Given the description of an element on the screen output the (x, y) to click on. 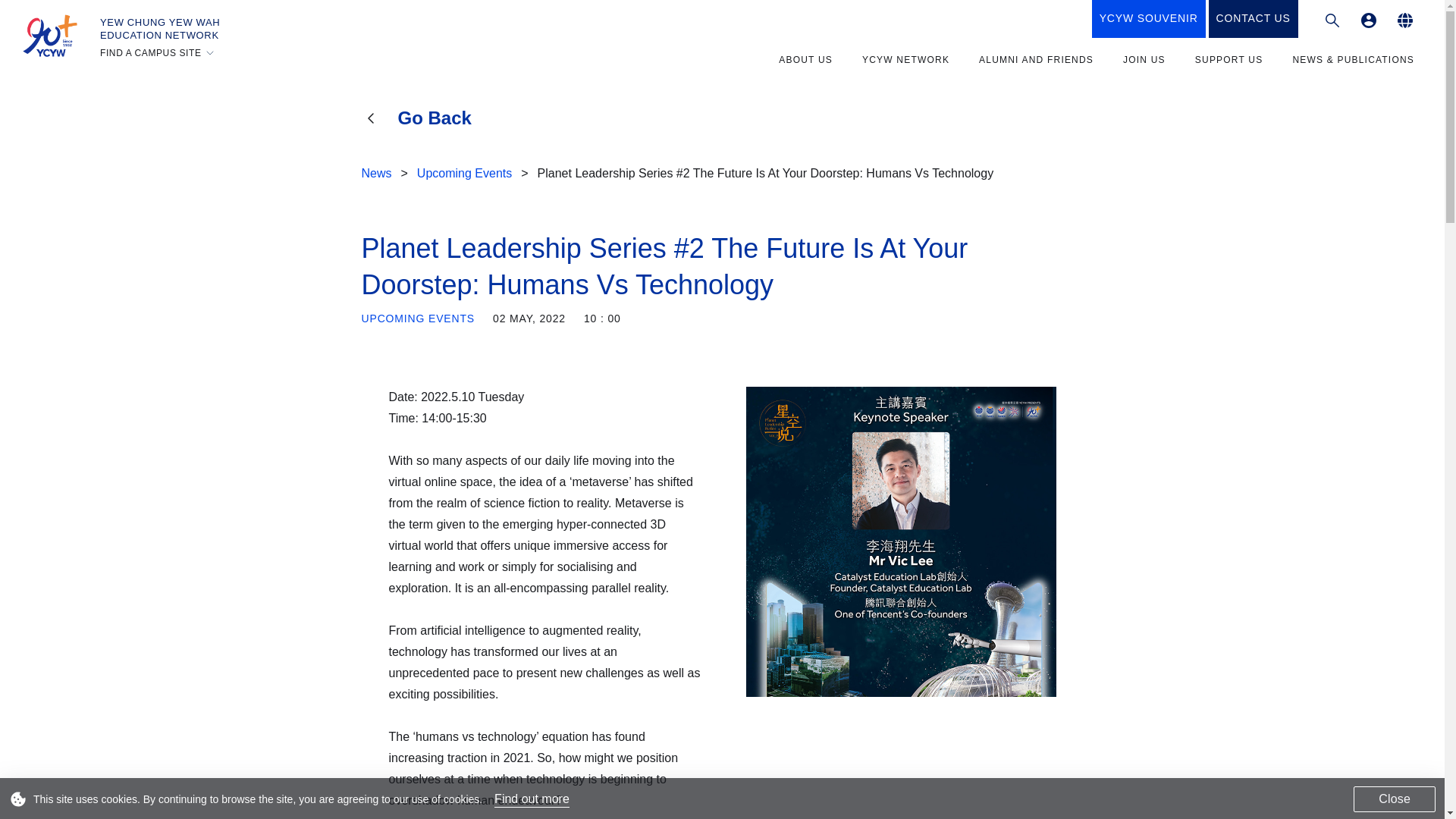
YCYW SOUVENIR (1148, 18)
CONTACT US (1253, 18)
FIND A CAMPUS SITE (157, 52)
